Given the description of an element on the screen output the (x, y) to click on. 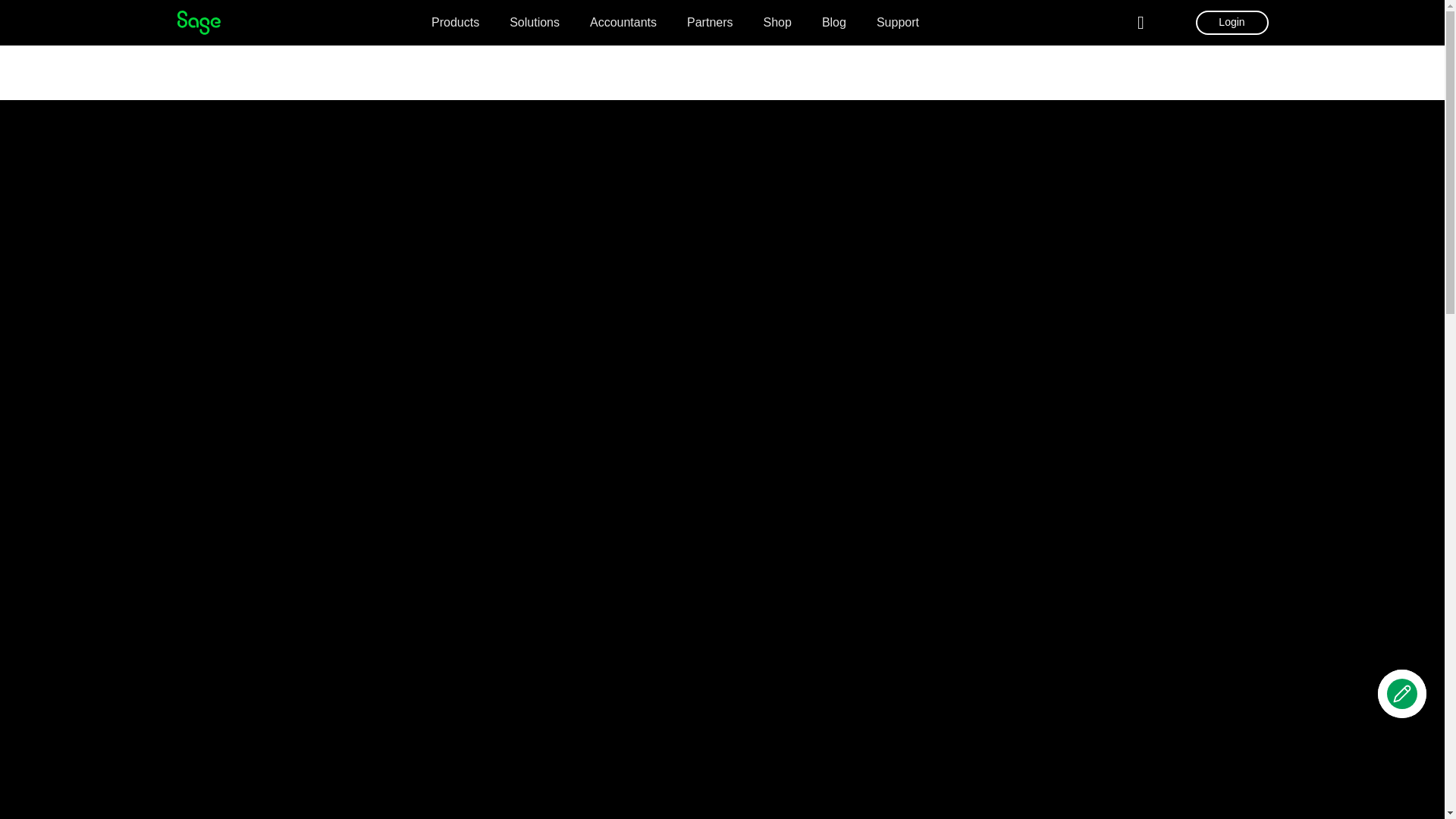
Home (198, 22)
Solutions (534, 24)
Products (454, 24)
